Given the description of an element on the screen output the (x, y) to click on. 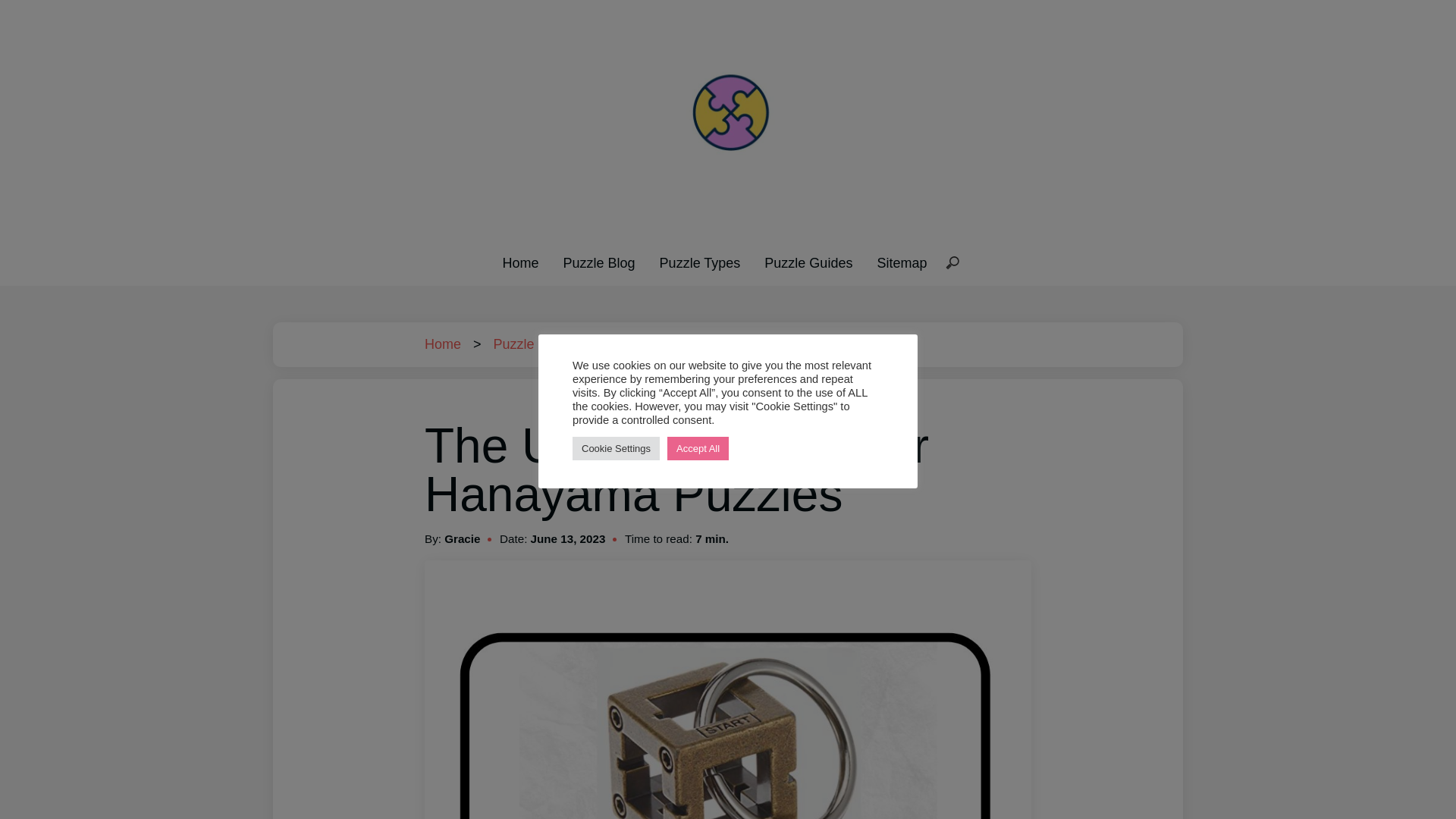
Home (443, 344)
Search for: (952, 263)
Puzzle Guides (536, 344)
Home (520, 263)
Puzzle Types (700, 263)
Sitemap (901, 263)
Home (443, 344)
The Ultimate Guide For Hanayama Puzzles (750, 344)
Puzzle Blog (598, 263)
Puzzle Guides (807, 263)
